Given the description of an element on the screen output the (x, y) to click on. 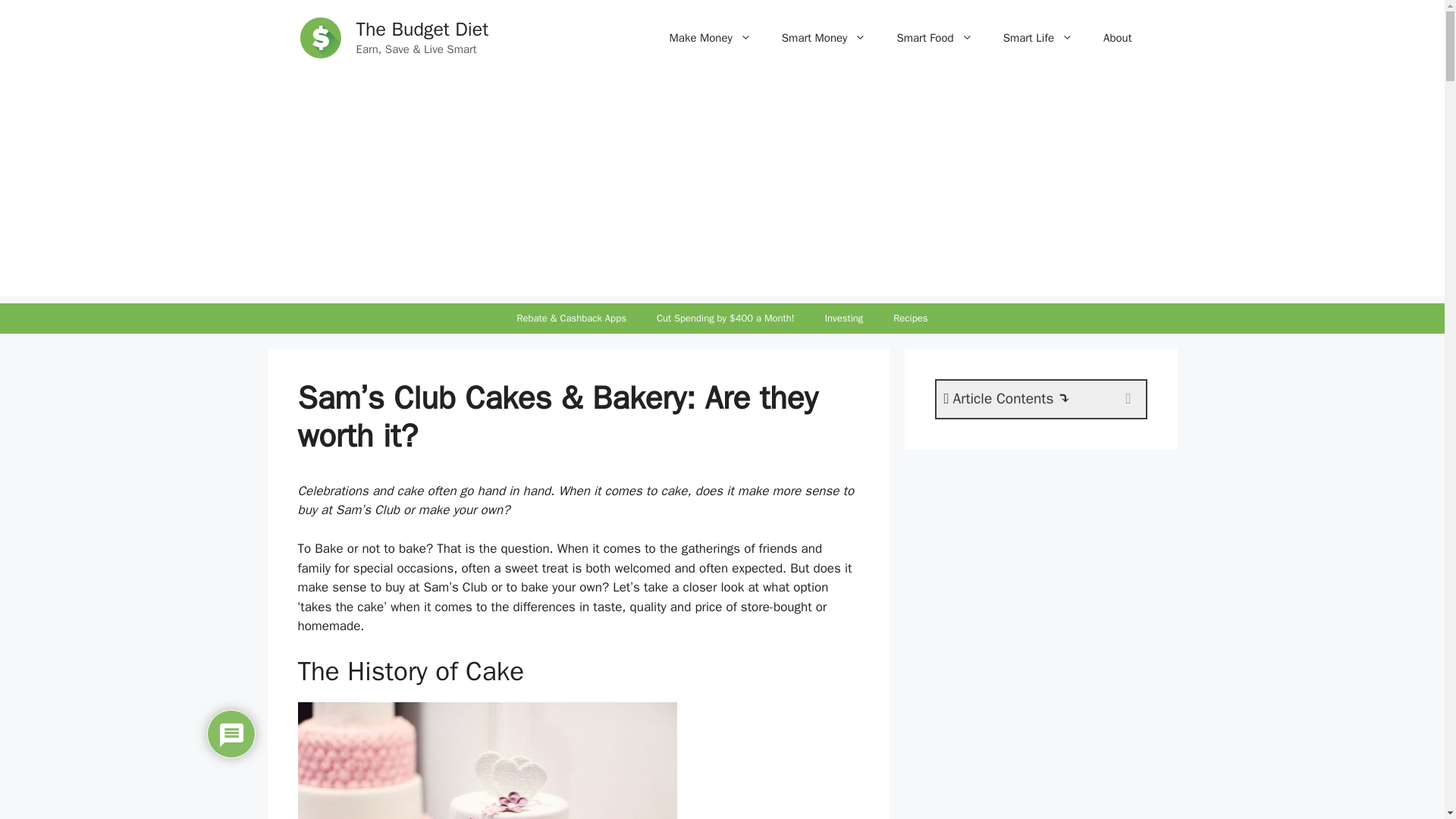
Smart Money (824, 37)
Make Money (710, 37)
Smart Life (1037, 37)
The Budget Diet (422, 28)
Smart Food (933, 37)
